Given the description of an element on the screen output the (x, y) to click on. 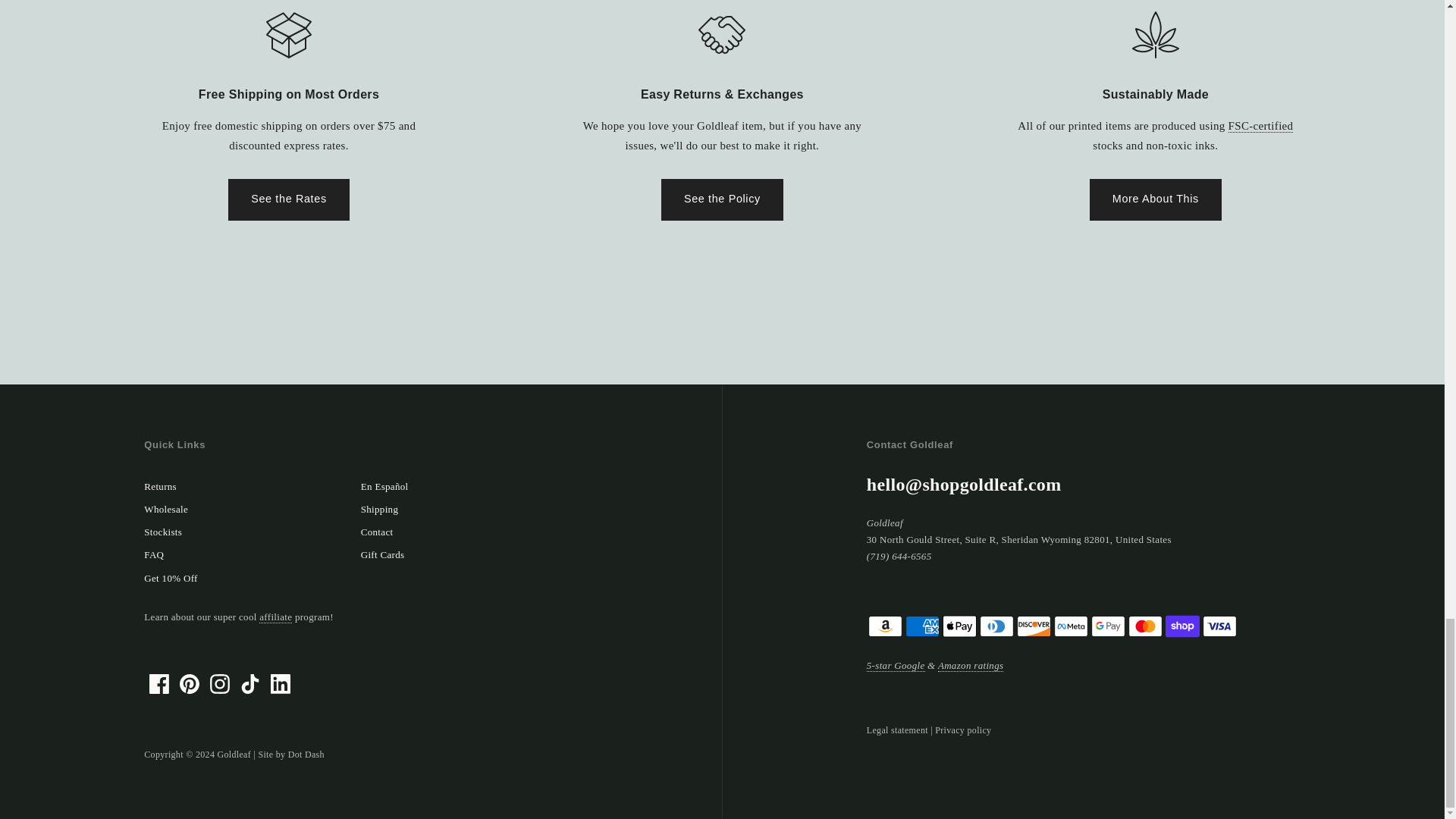
Affiliate Program (275, 616)
